Given the description of an element on the screen output the (x, y) to click on. 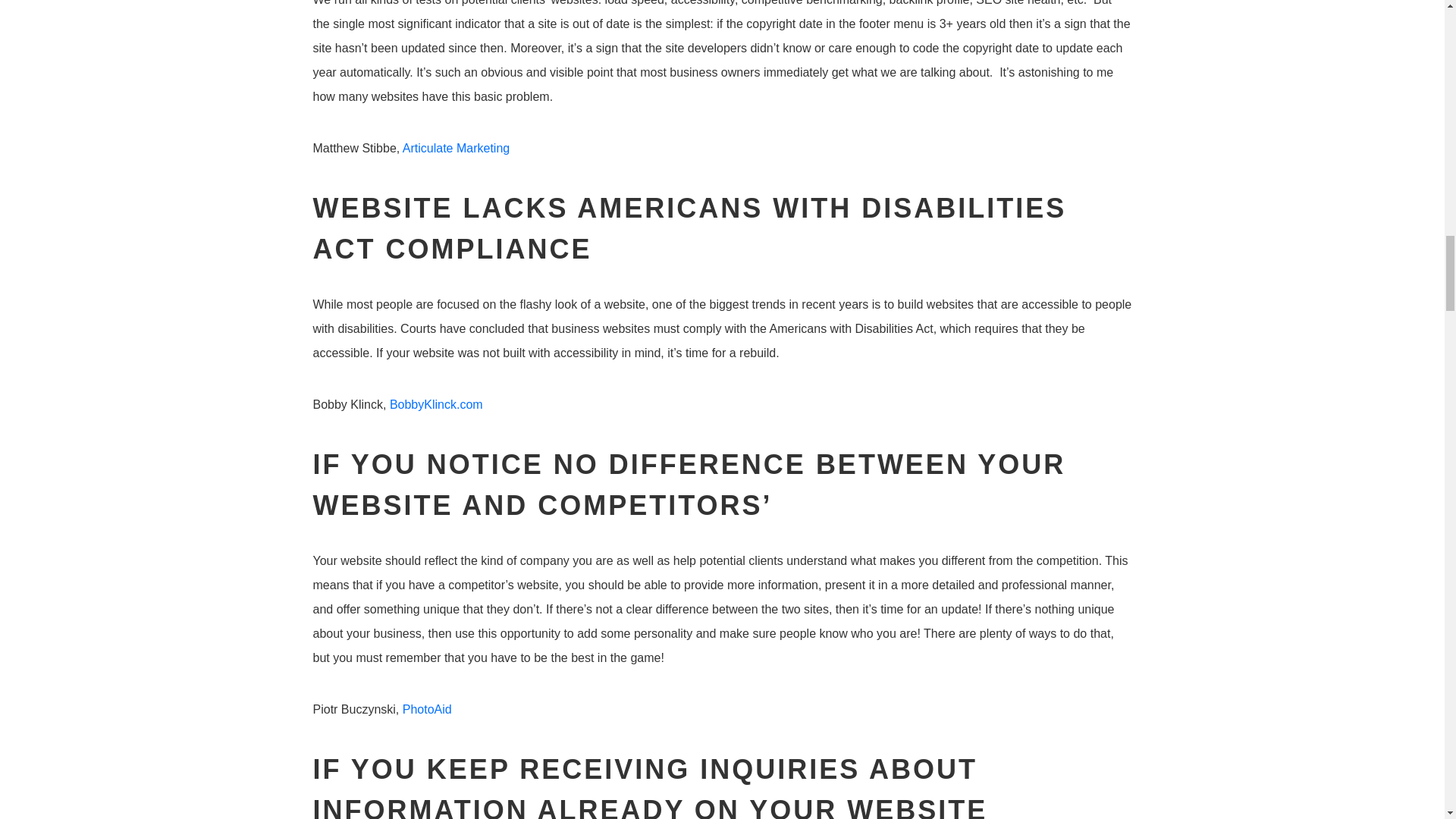
PhotoAid (427, 708)
Articulate Marketing (456, 147)
BobbyKlinck.com (436, 404)
